Given the description of an element on the screen output the (x, y) to click on. 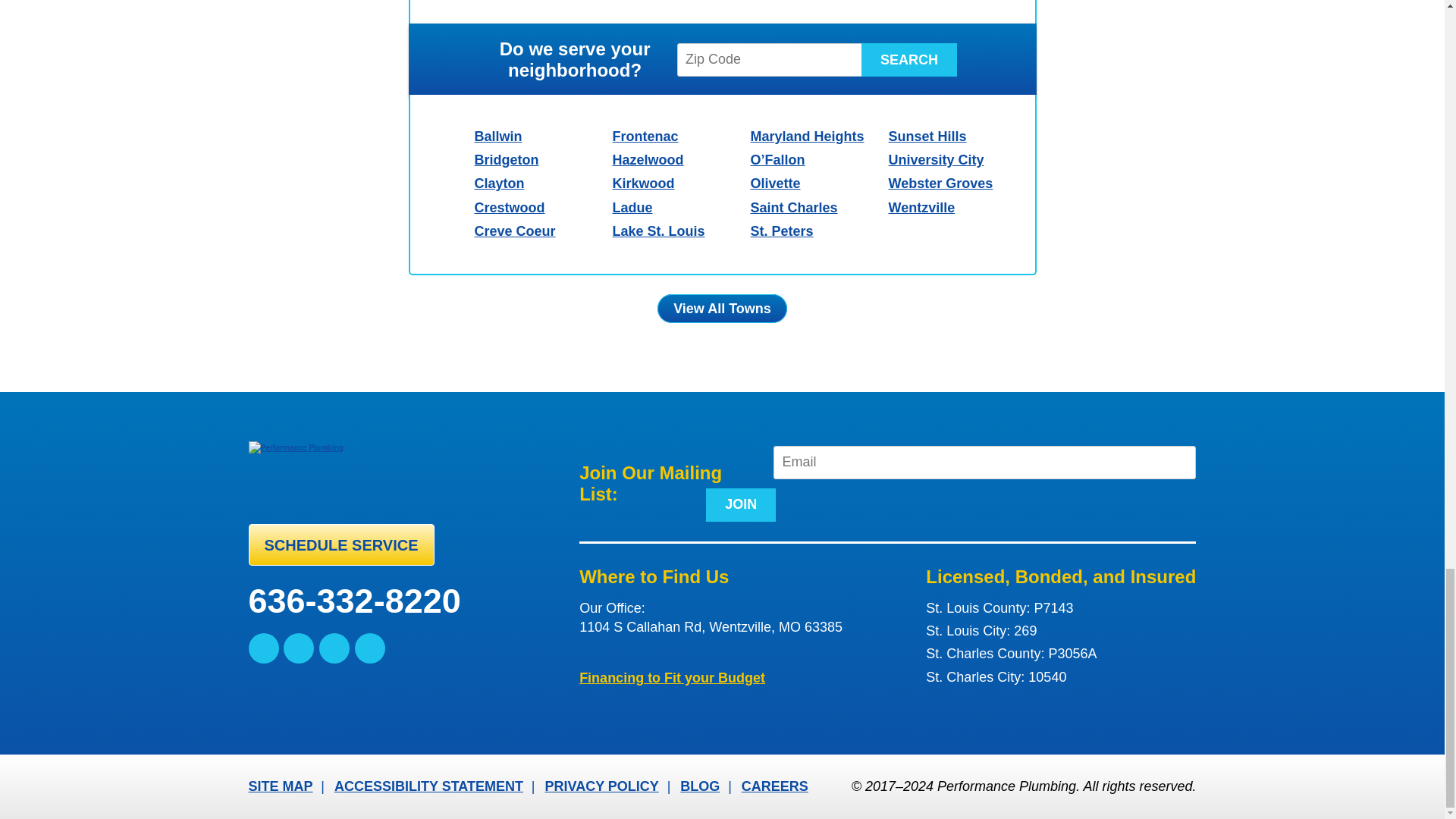
Search (908, 59)
